Given the description of an element on the screen output the (x, y) to click on. 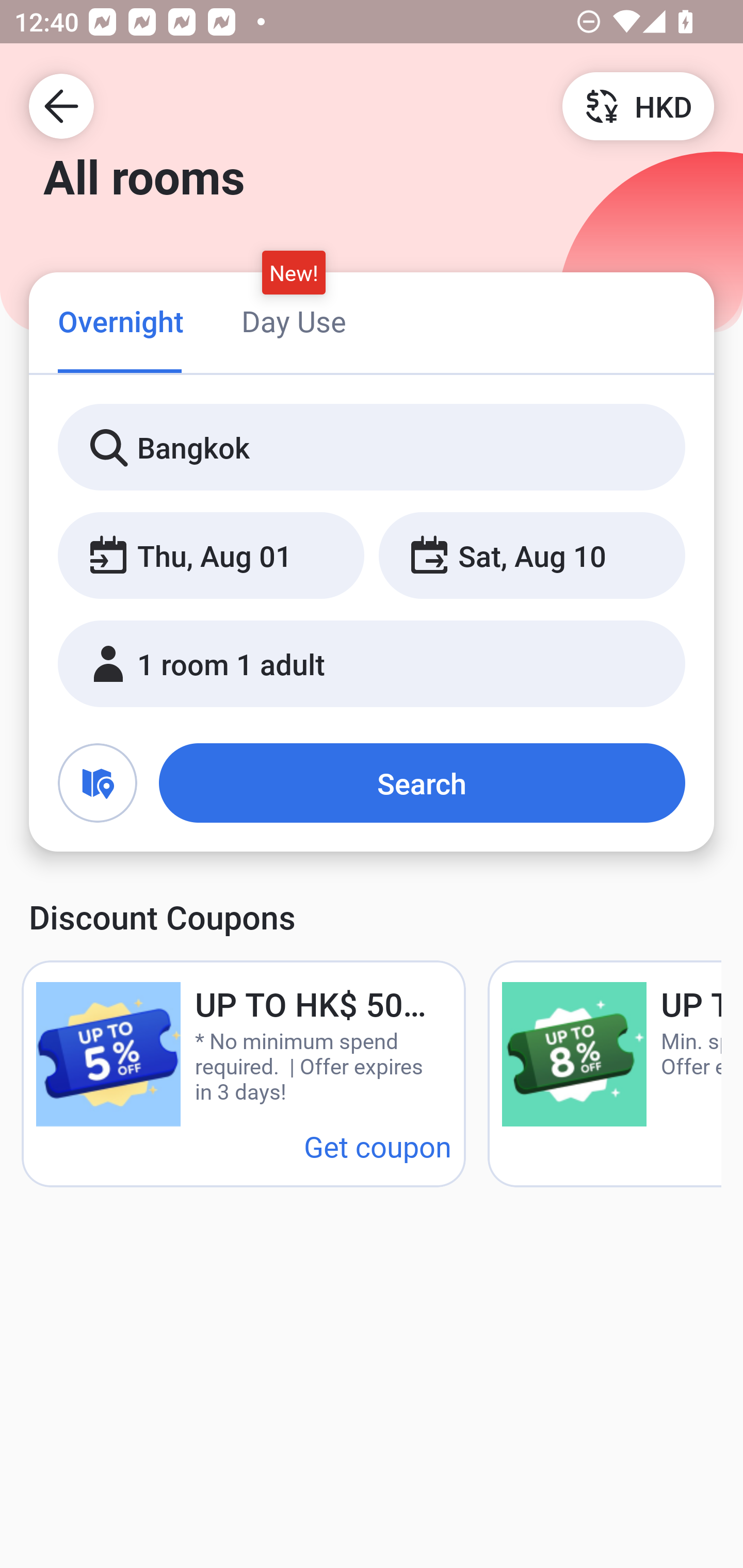
HKD (638, 105)
New! (294, 272)
Day Use (293, 321)
Bangkok (371, 447)
Thu, Aug 01 (210, 555)
Sat, Aug 10 (531, 555)
1 room 1 adult (371, 663)
Search (422, 783)
Get coupon (377, 1146)
